Given the description of an element on the screen output the (x, y) to click on. 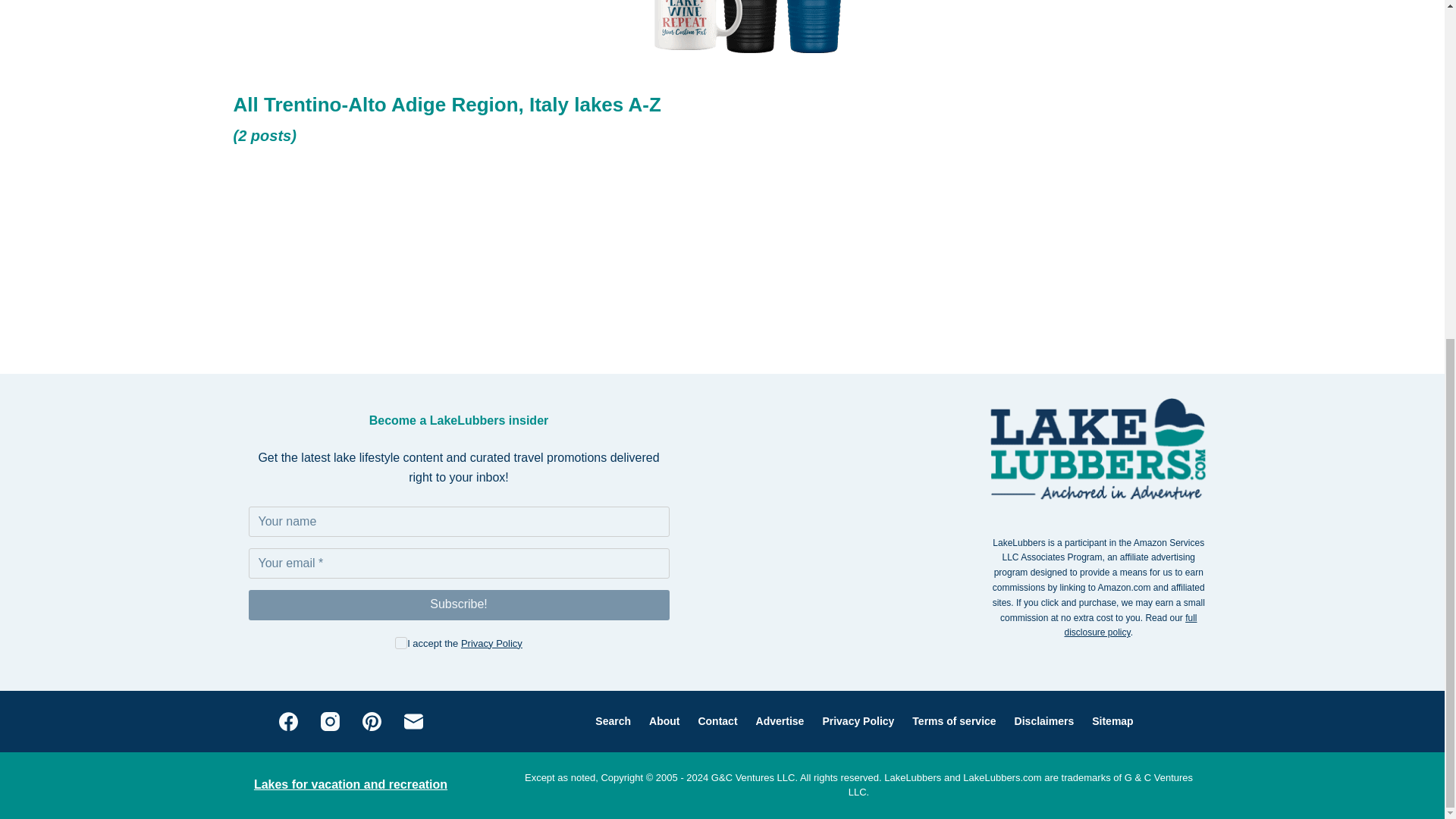
Email (458, 562)
on (400, 643)
Name (458, 521)
